Given the description of an element on the screen output the (x, y) to click on. 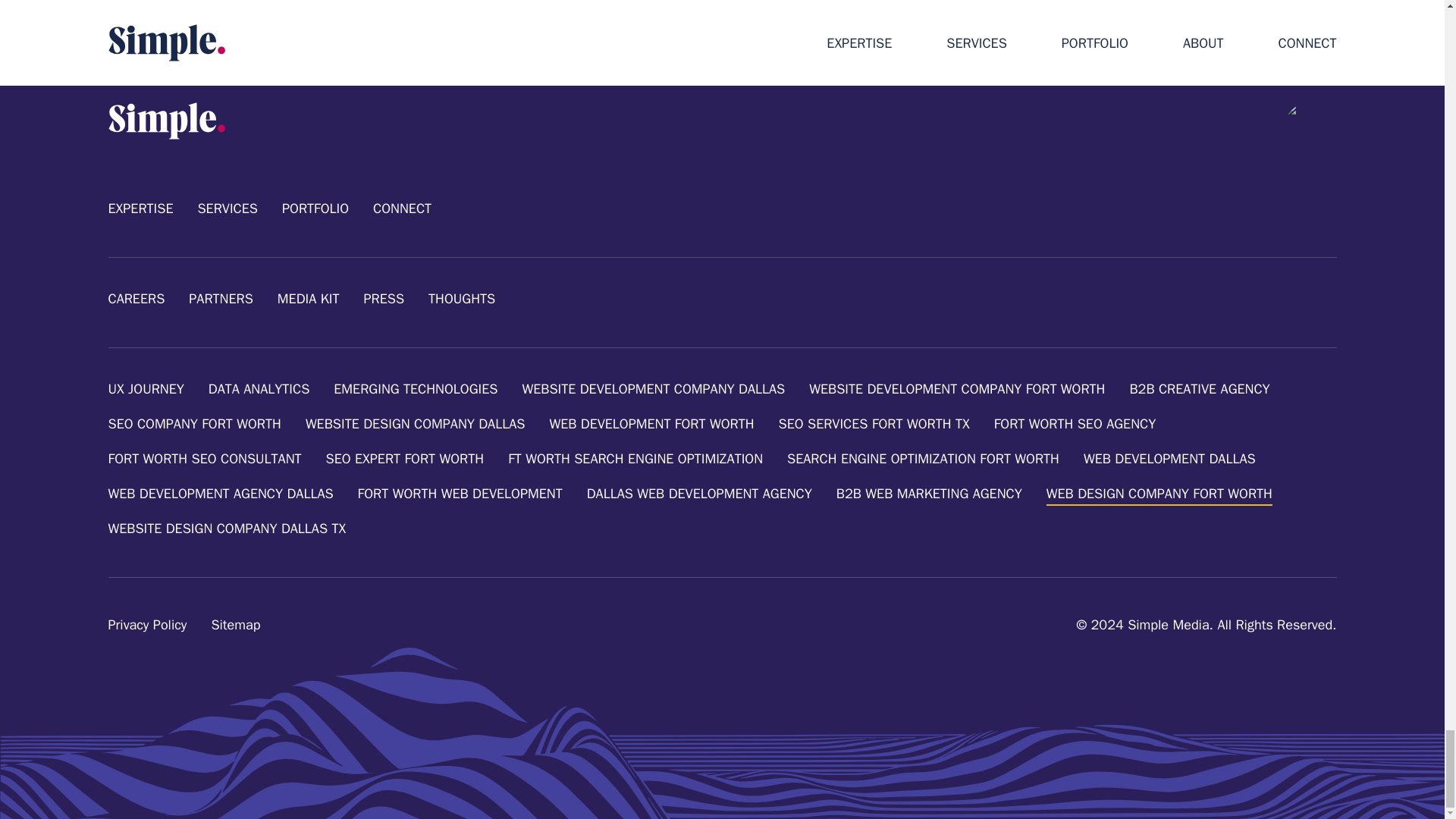
EXPERTISE (140, 209)
